Given the description of an element on the screen output the (x, y) to click on. 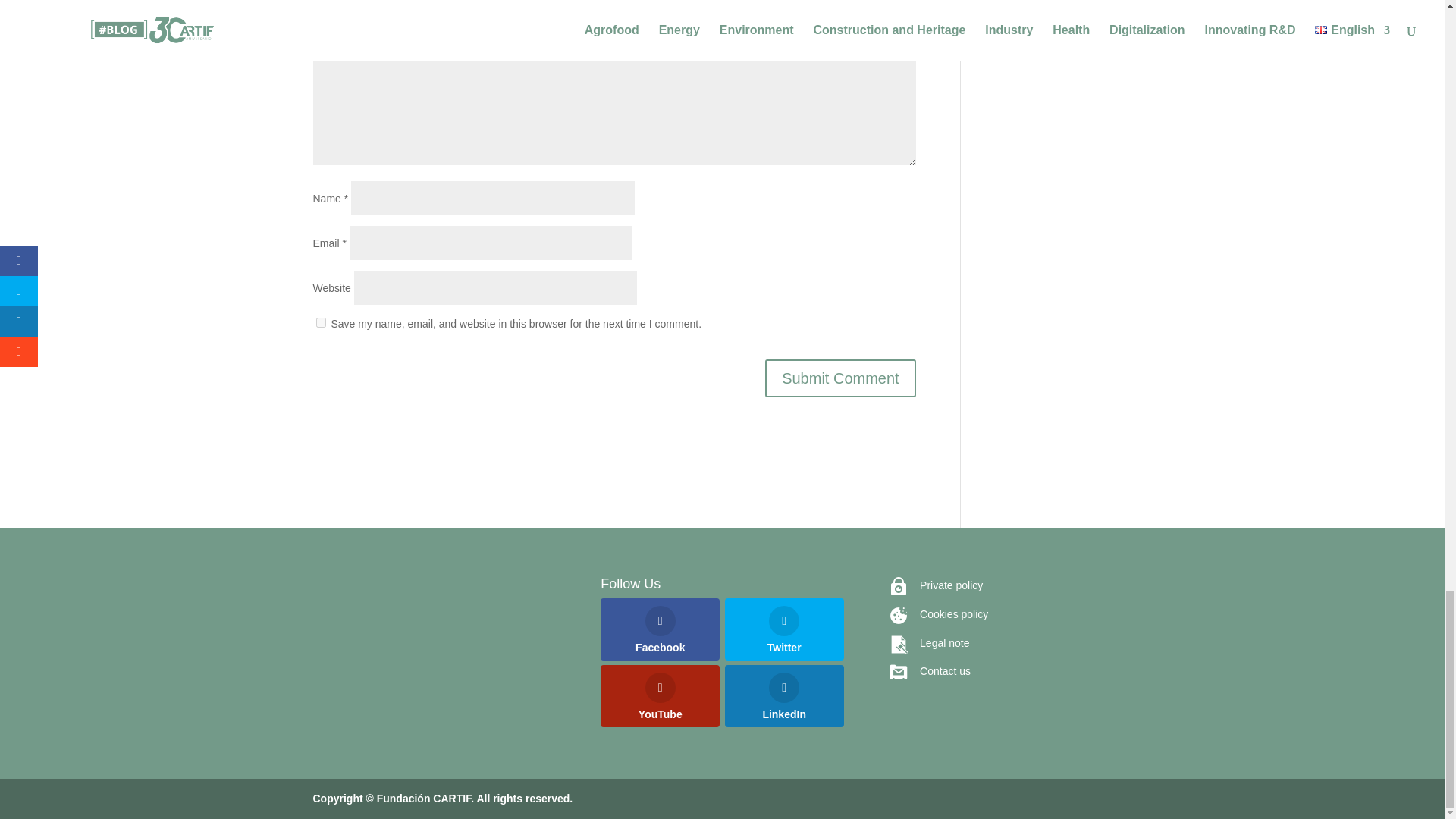
Submit Comment (840, 378)
Submit Comment (840, 378)
yes (319, 322)
